Given the description of an element on the screen output the (x, y) to click on. 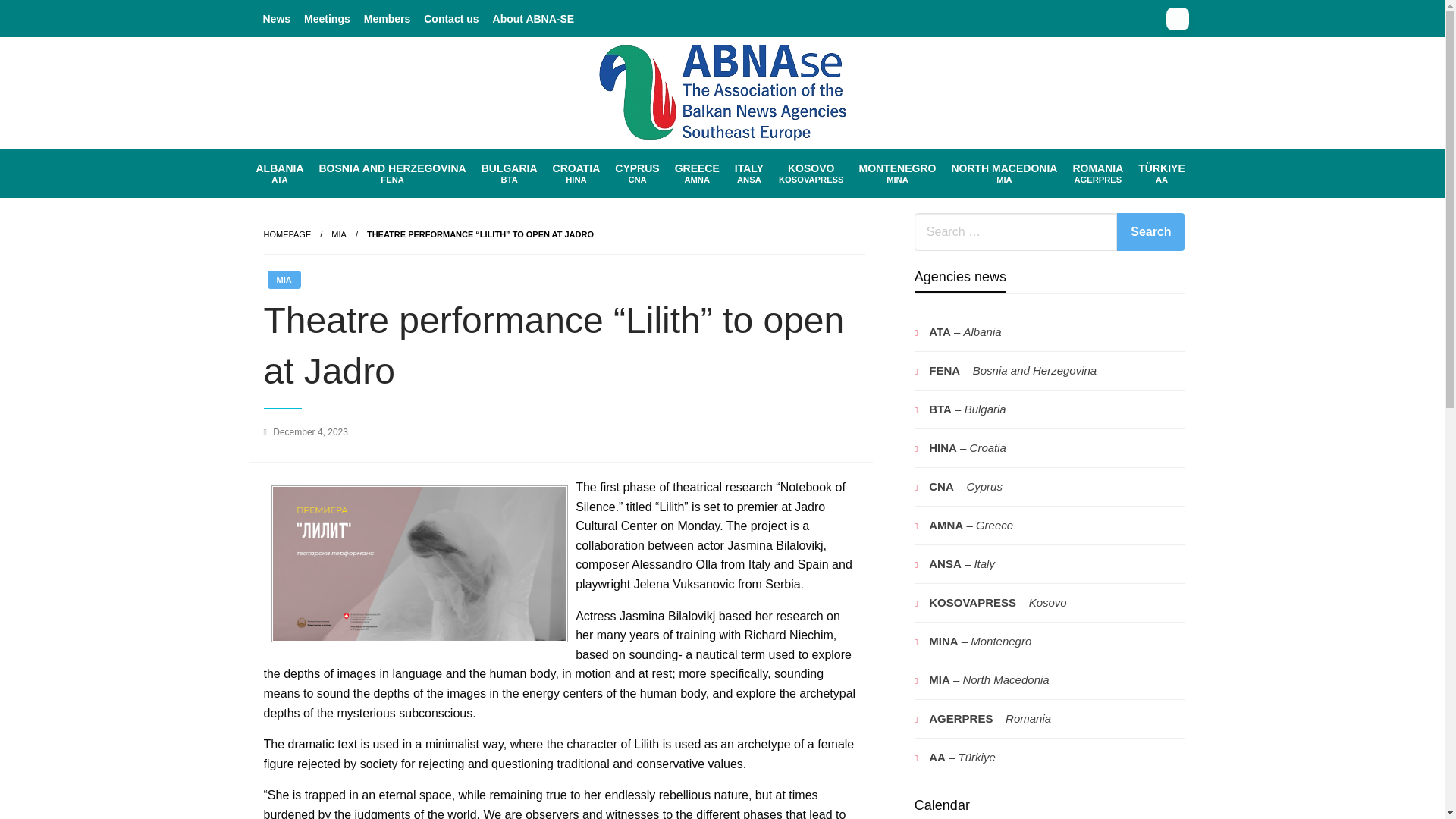
HINA (636, 173)
FENA (696, 173)
ATA (576, 173)
Members (392, 173)
AA (279, 173)
